Given the description of an element on the screen output the (x, y) to click on. 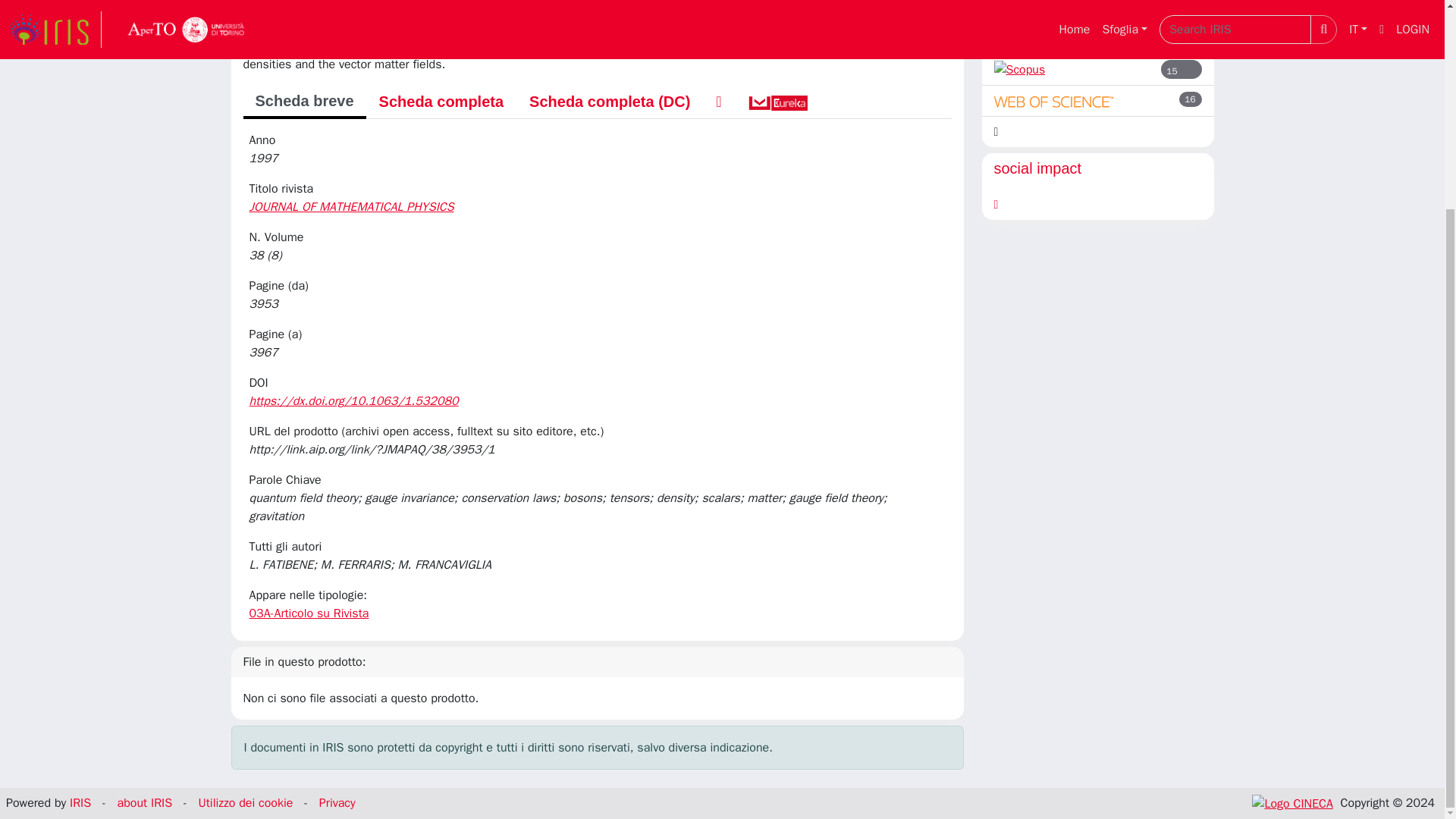
Scheda breve (304, 101)
03A-Articolo su Rivista (308, 613)
Scheda completa (441, 101)
JOURNAL OF MATHEMATICAL PHYSICS (352, 206)
